Given the description of an element on the screen output the (x, y) to click on. 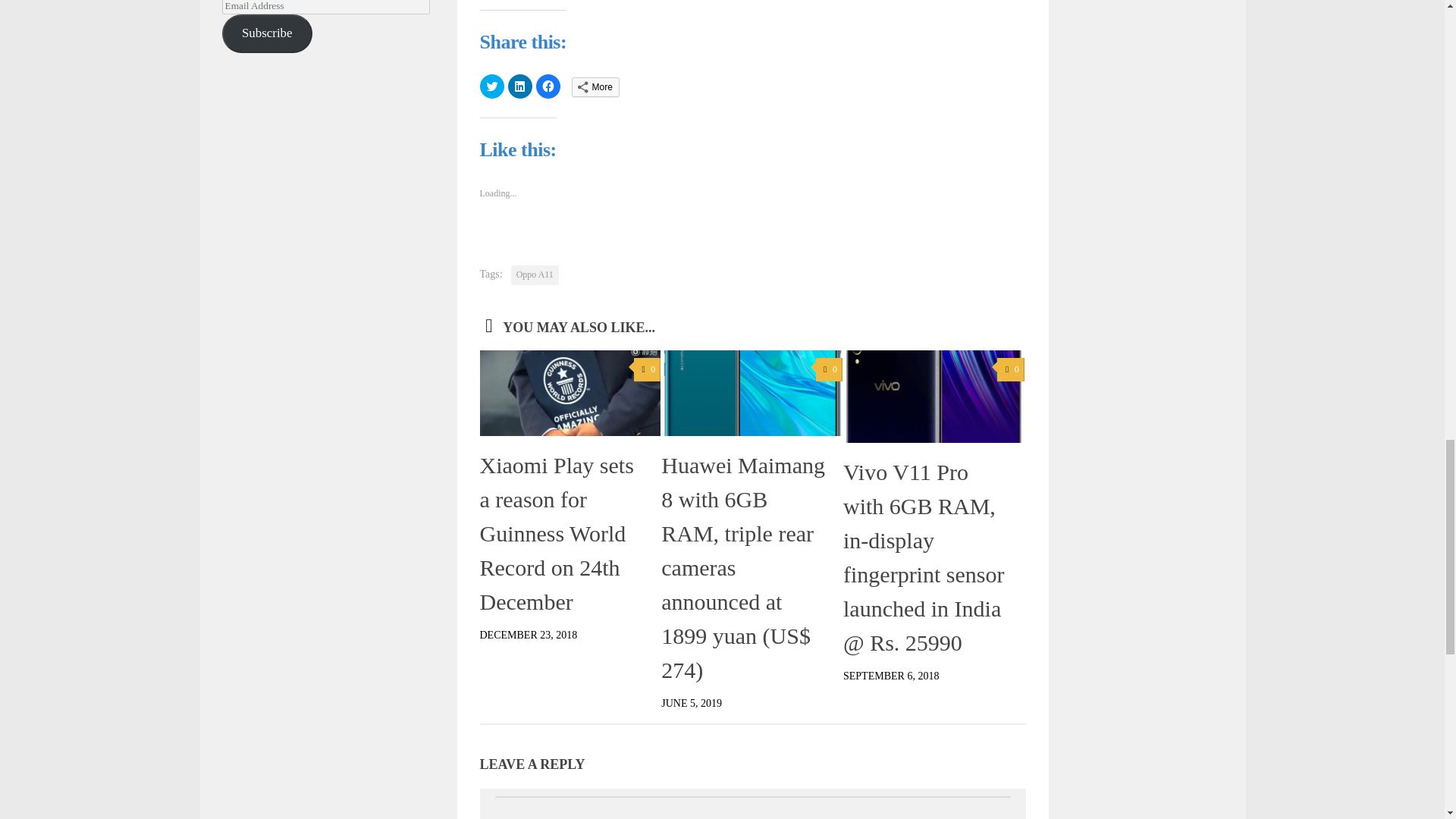
0 (829, 369)
Click to share on LinkedIn (520, 86)
Click to share on Facebook (547, 86)
Oppo A11 (535, 275)
Comment Form (752, 807)
Click to share on Twitter (491, 86)
More (596, 86)
0 (647, 369)
